Given the description of an element on the screen output the (x, y) to click on. 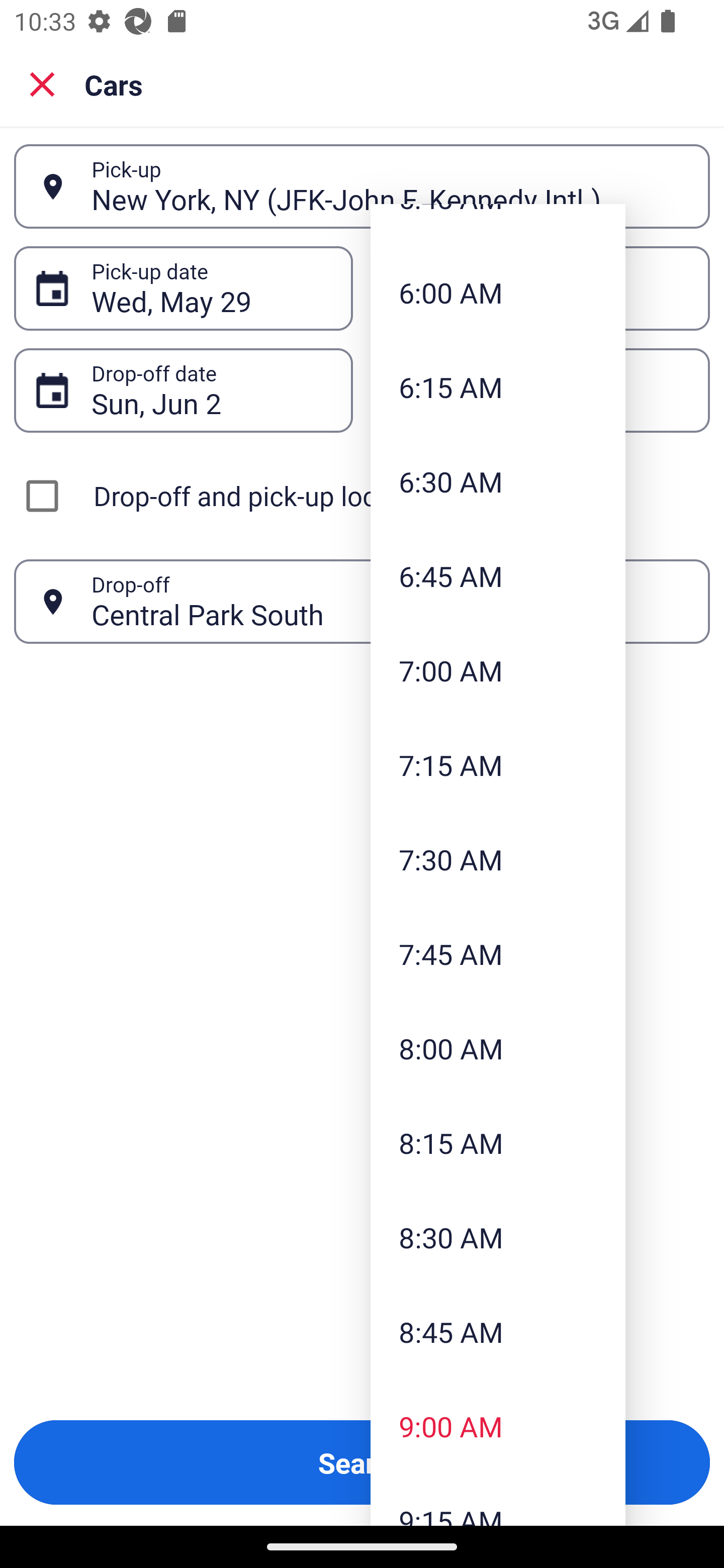
6:00 AM (497, 292)
6:15 AM (497, 387)
6:30 AM (497, 481)
6:45 AM (497, 575)
7:00 AM (497, 670)
7:15 AM (497, 765)
7:30 AM (497, 859)
7:45 AM (497, 953)
8:00 AM (497, 1048)
8:15 AM (497, 1143)
8:30 AM (497, 1237)
8:45 AM (497, 1331)
9:00 AM (497, 1425)
